Given the description of an element on the screen output the (x, y) to click on. 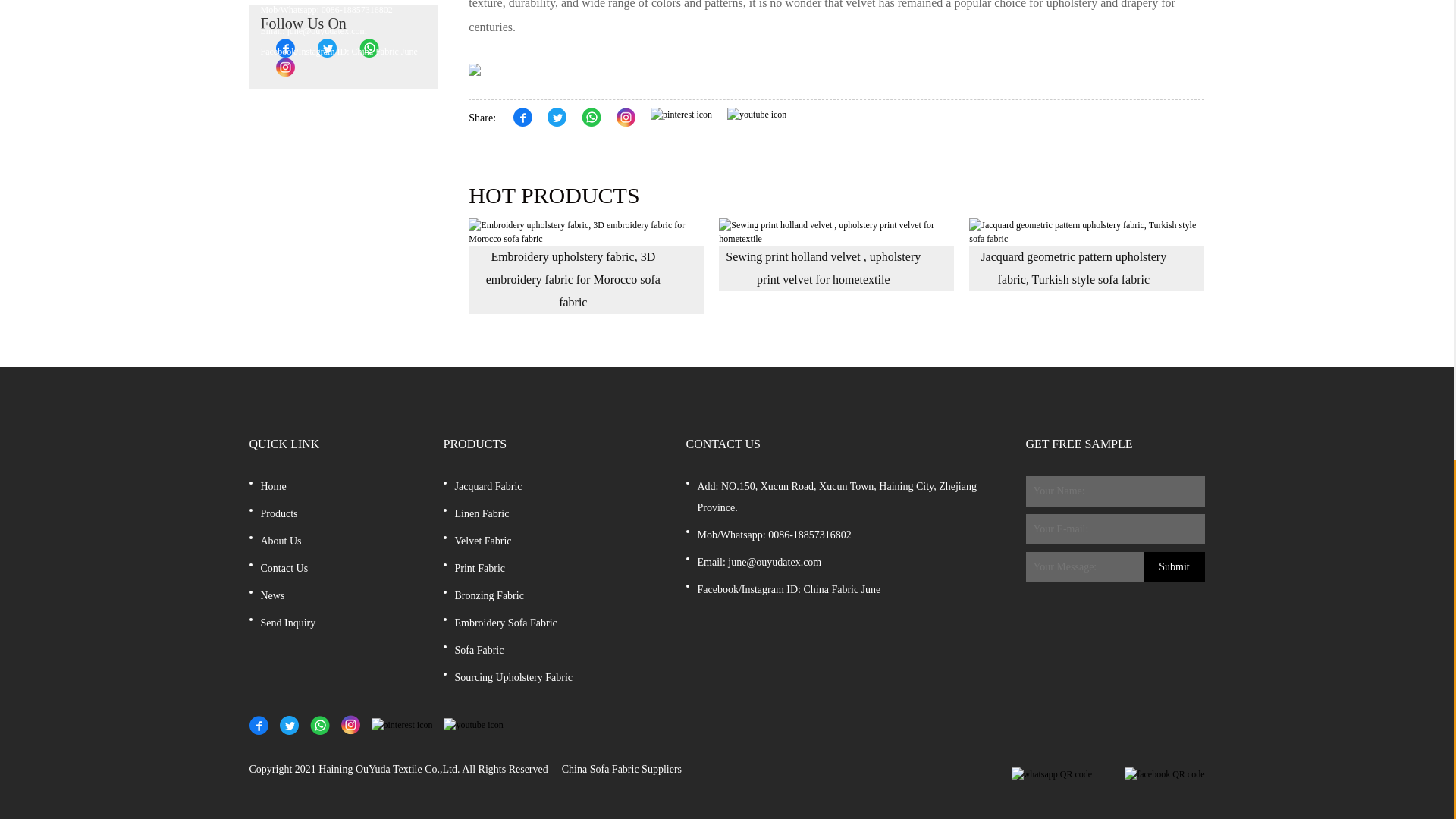
Submit (1173, 567)
